Given the description of an element on the screen output the (x, y) to click on. 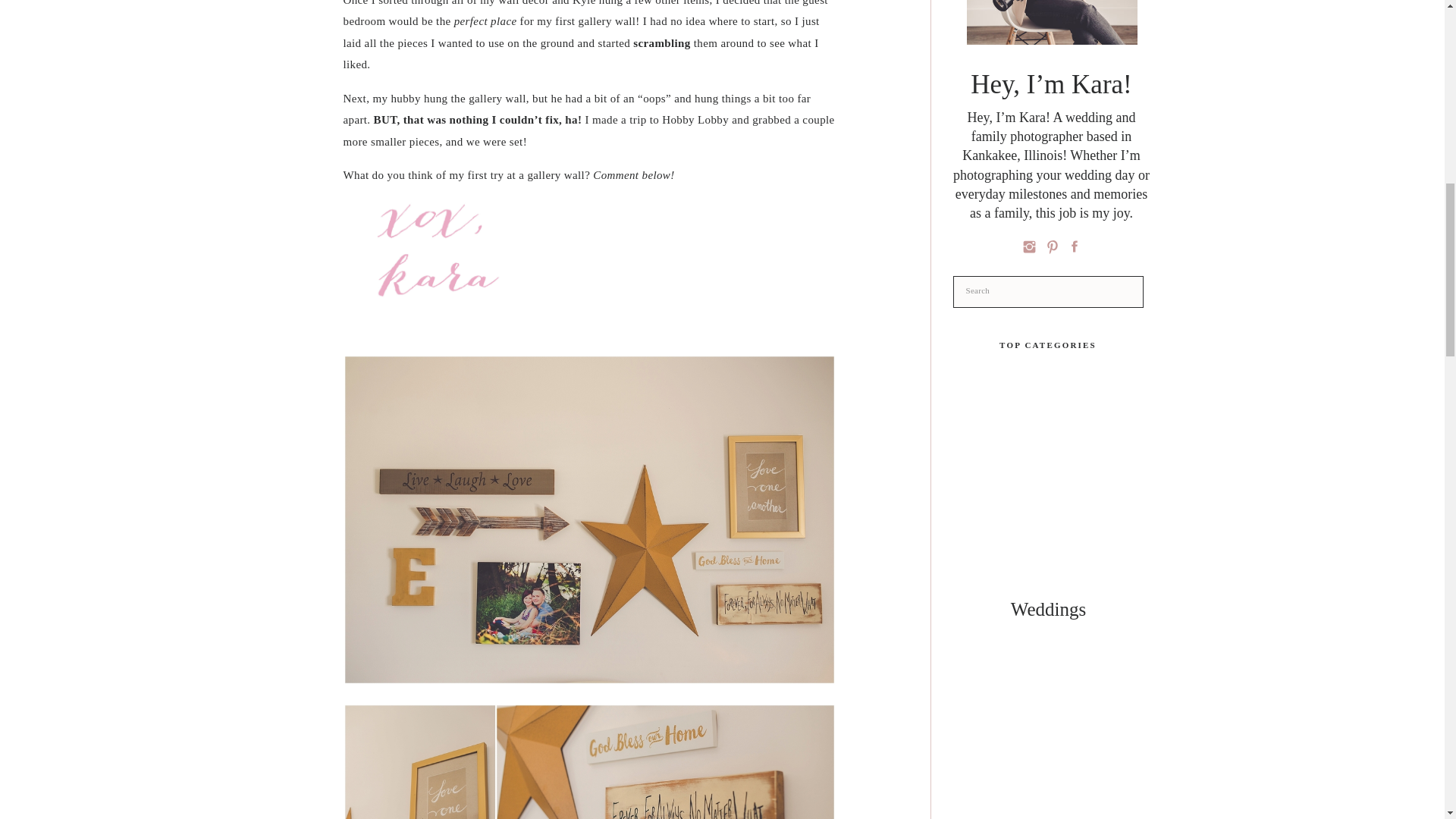
Weddings (1048, 609)
